Given the description of an element on the screen output the (x, y) to click on. 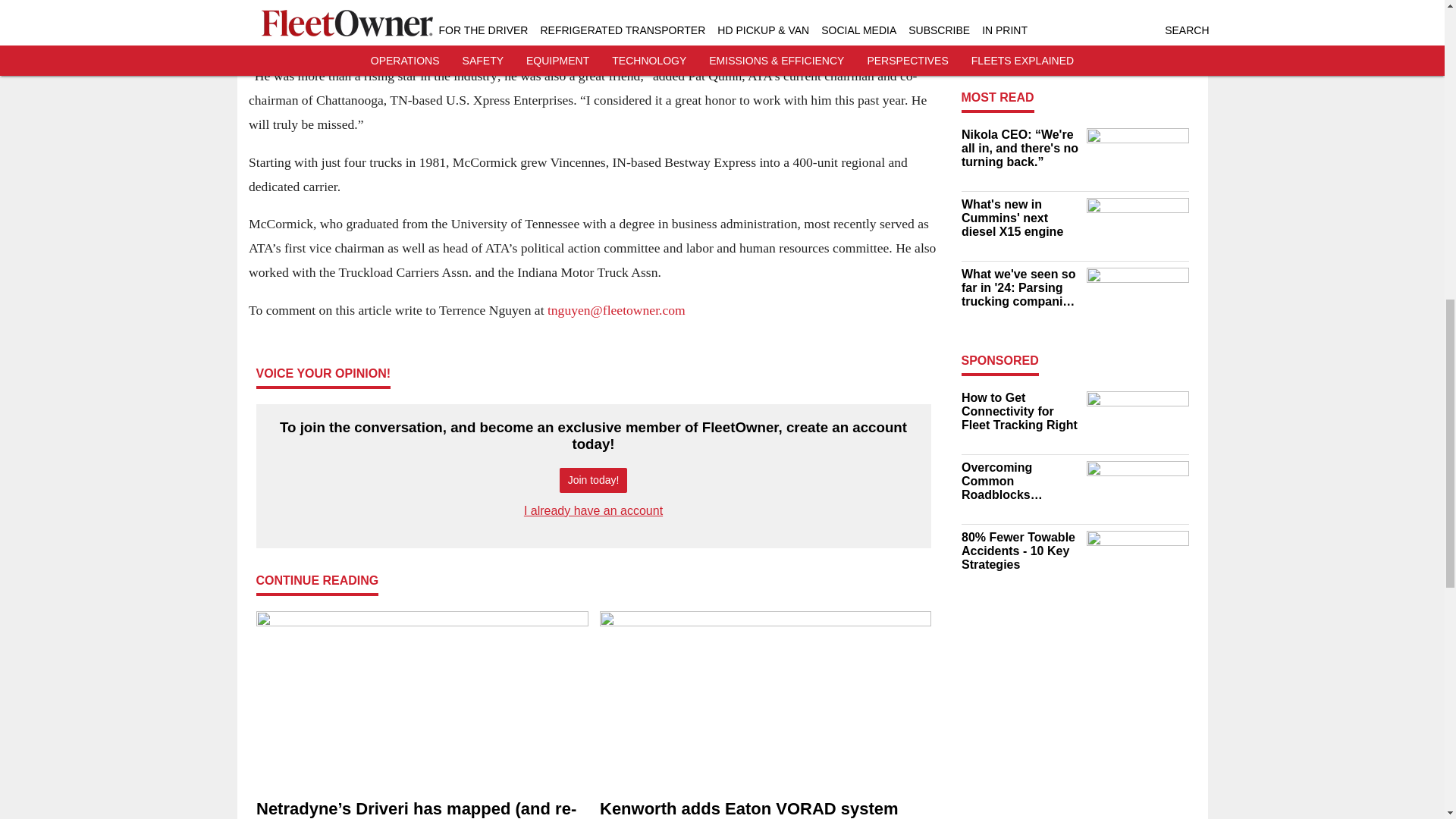
I already have an account (593, 510)
Kenworth adds Eaton VORAD system option (764, 809)
Join today! (593, 480)
